Given the description of an element on the screen output the (x, y) to click on. 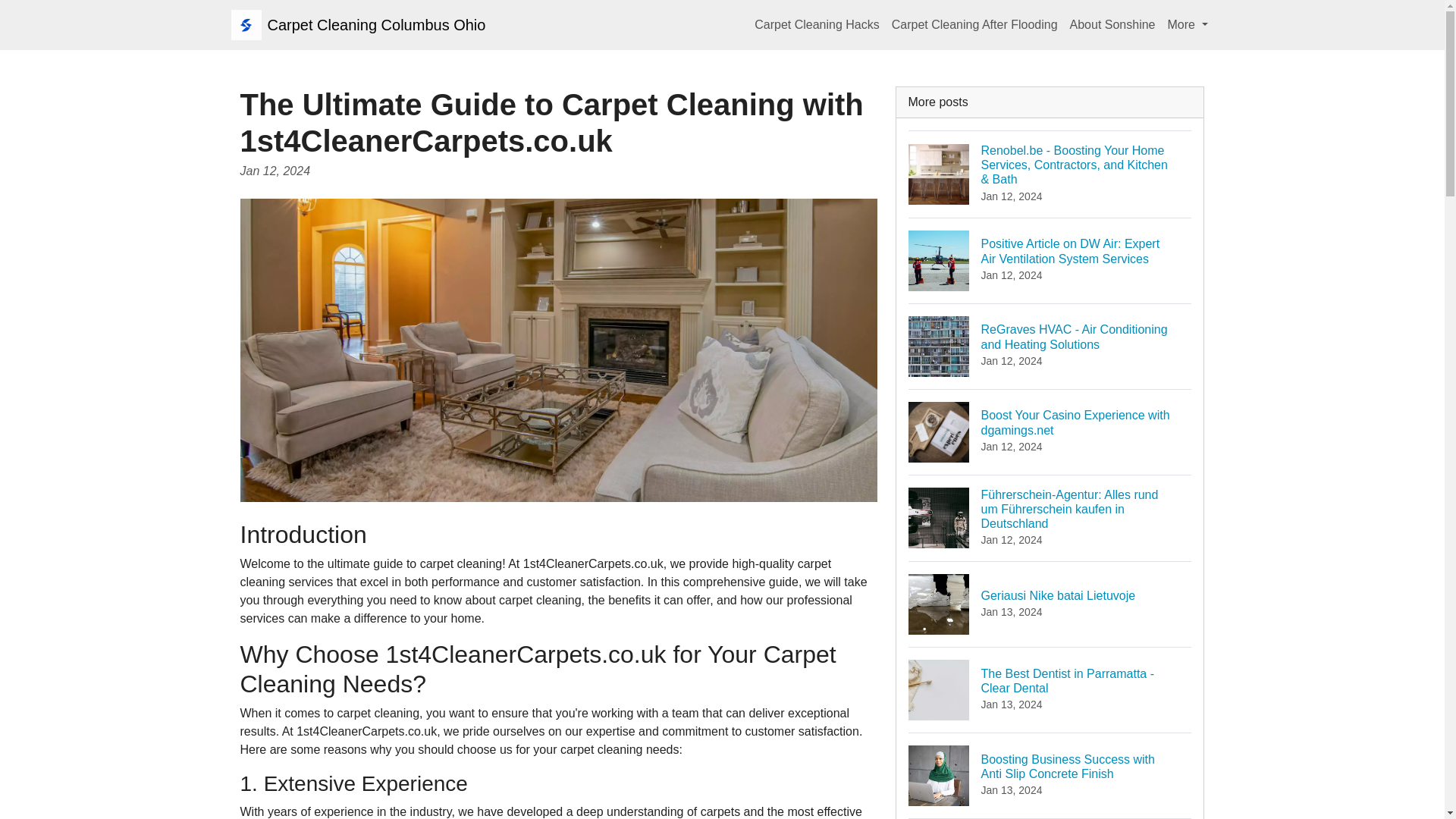
About Sonshine (1112, 24)
More (816, 24)
Carpet Cleaning After Flooding (1050, 604)
